Given the description of an element on the screen output the (x, y) to click on. 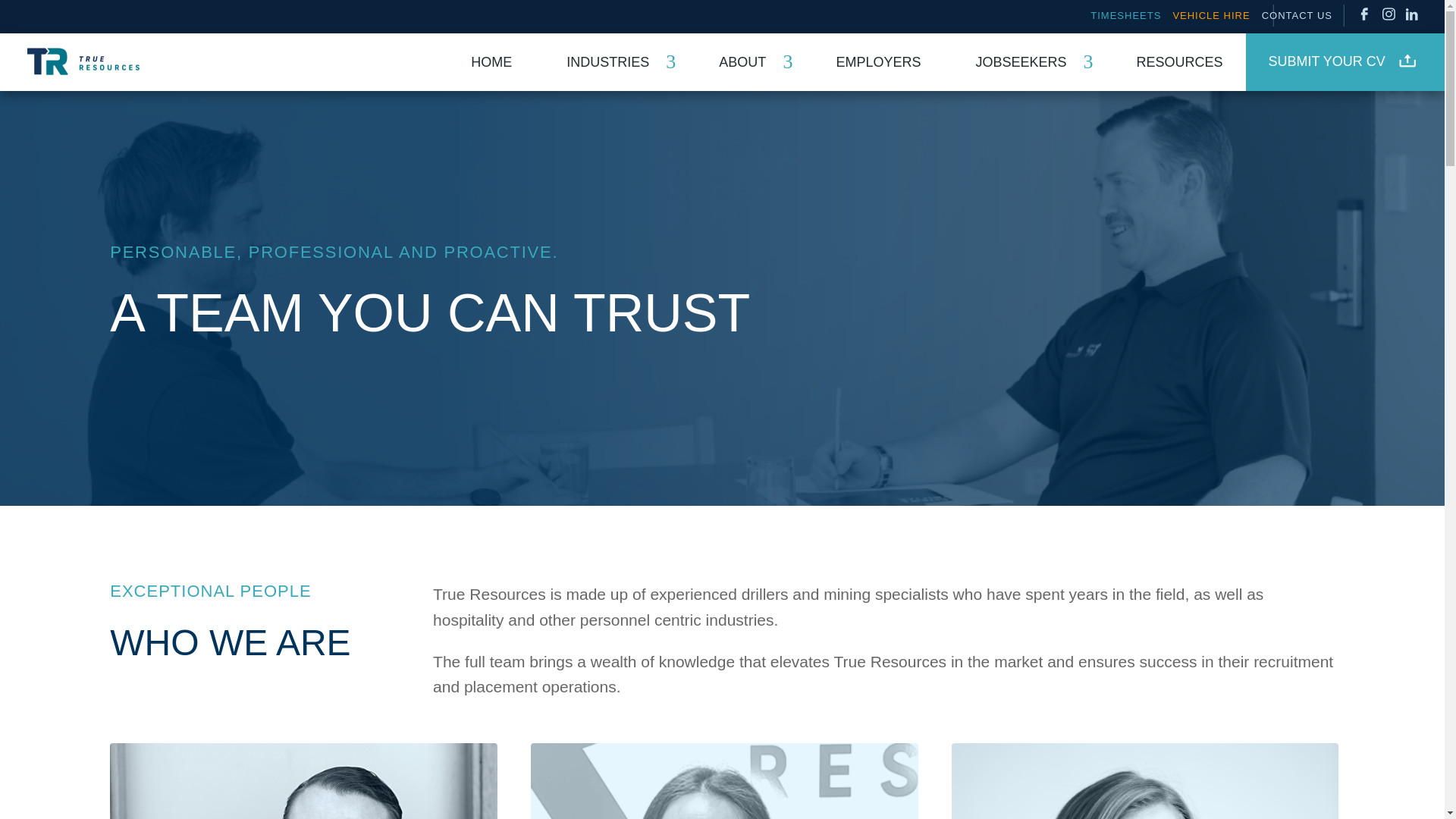
JOBSEEKERS (1009, 61)
ABOUT (730, 61)
INDUSTRIES (595, 61)
Jamie (1145, 780)
Caroline (724, 780)
Matt (303, 780)
EMPLOYERS (858, 61)
RESOURCES (1160, 61)
HOME (472, 61)
